Given the description of an element on the screen output the (x, y) to click on. 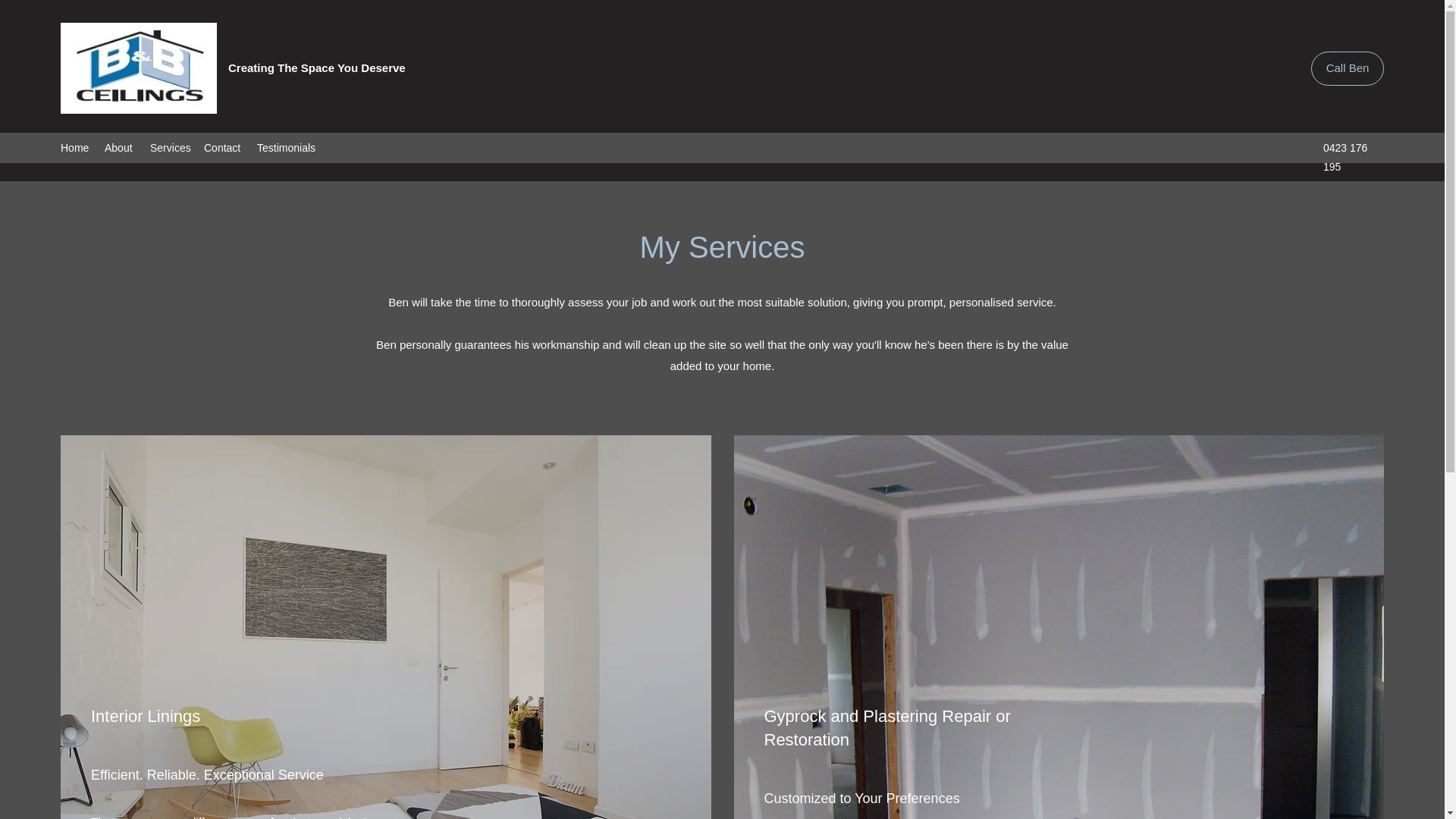
Contact (222, 147)
Call Ben (1347, 68)
About (119, 147)
Services (169, 147)
Home (74, 147)
Testimonials (284, 147)
